Given the description of an element on the screen output the (x, y) to click on. 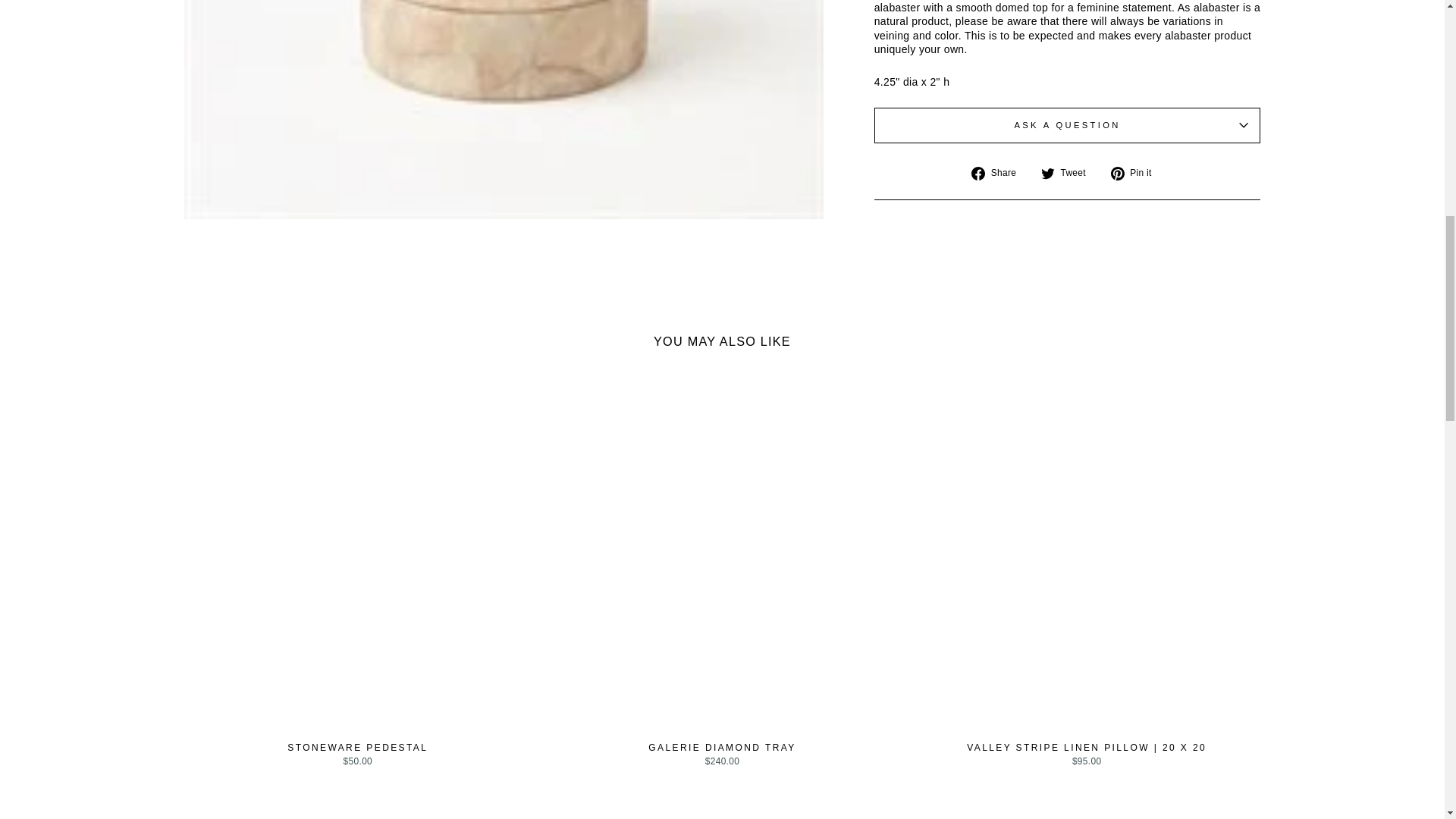
Share on Facebook (999, 173)
twitter (1047, 173)
Pin on Pinterest (1136, 173)
Tweet on Twitter (1069, 173)
